Given the description of an element on the screen output the (x, y) to click on. 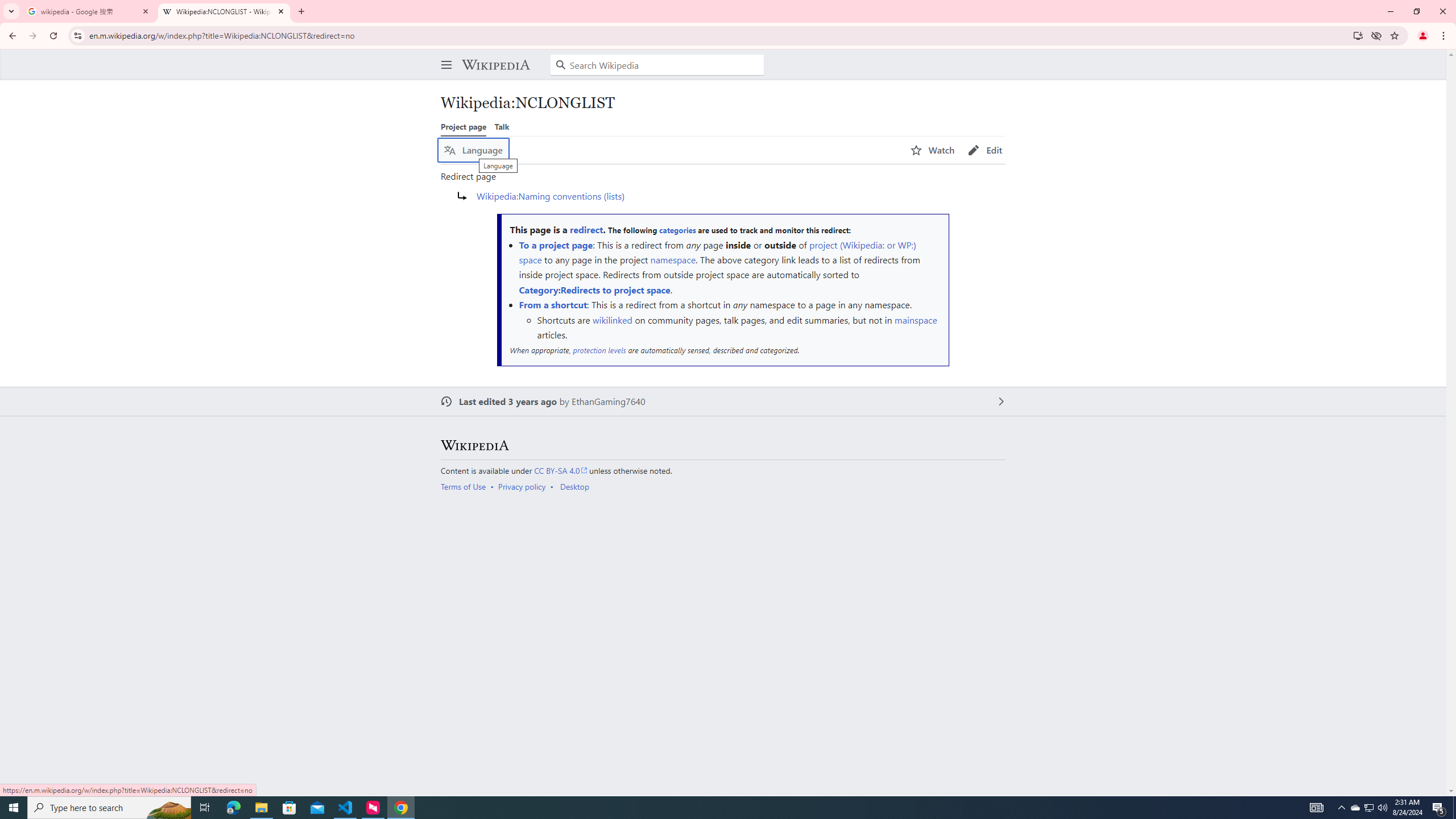
Project page (462, 126)
categories (677, 230)
AutomationID: main-menu-input (443, 55)
Wikipedia:Naming conventions (lists) (550, 195)
protection levels (599, 350)
